Given the description of an element on the screen output the (x, y) to click on. 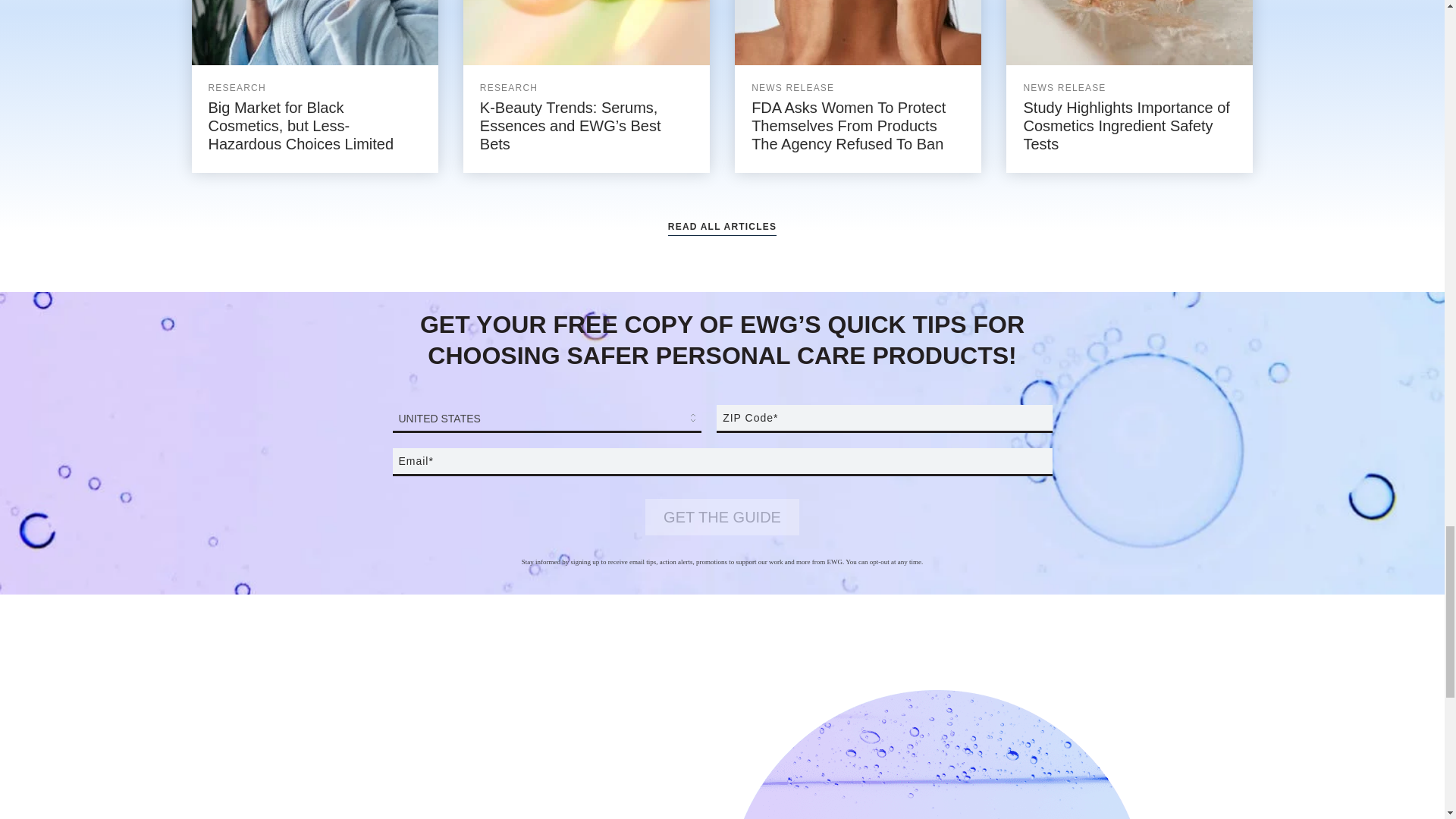
United States (542, 418)
Country (547, 418)
GET THE GUIDE (722, 516)
